Given the description of an element on the screen output the (x, y) to click on. 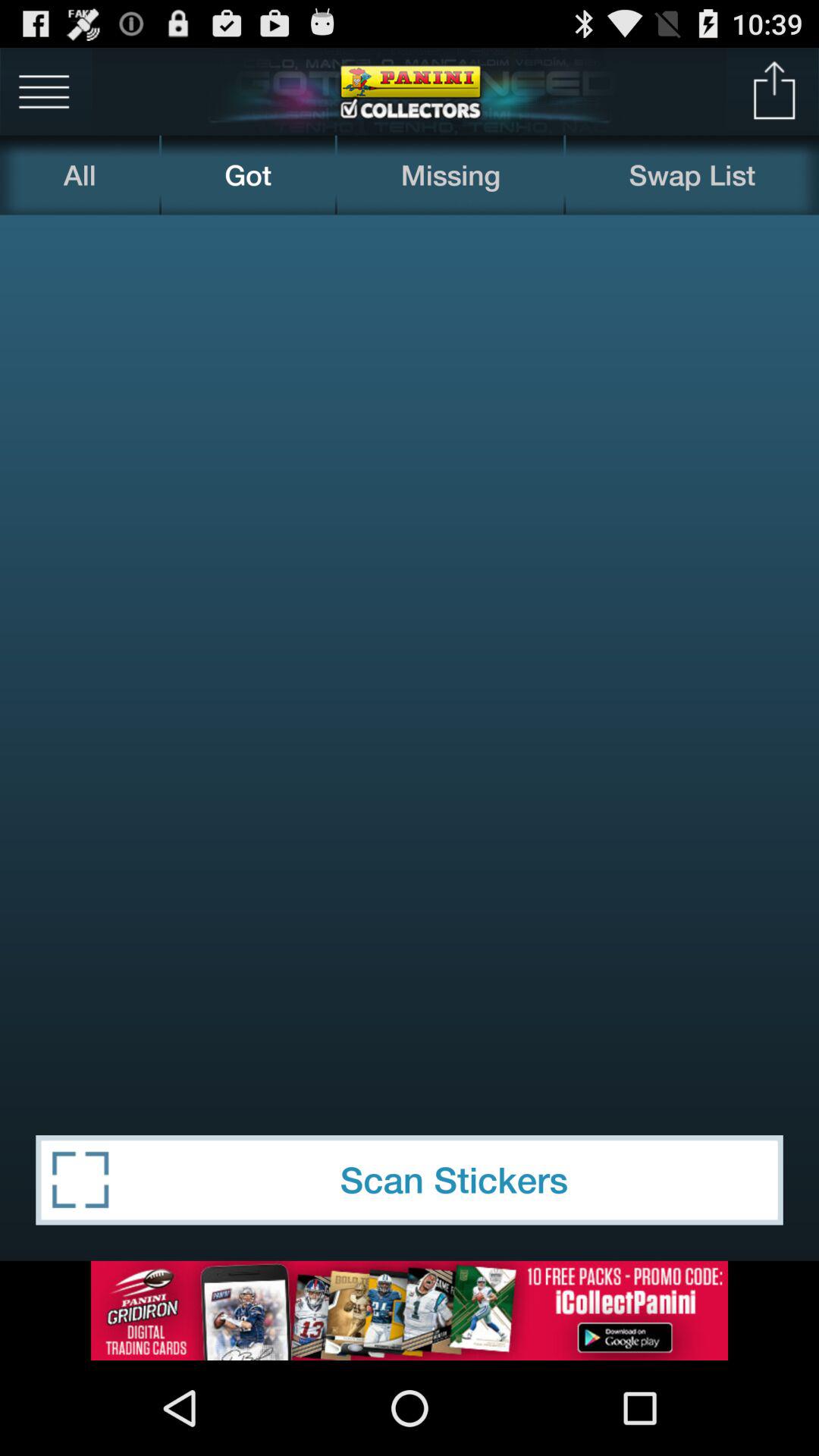
jump until the scan stickers item (409, 1180)
